Given the description of an element on the screen output the (x, y) to click on. 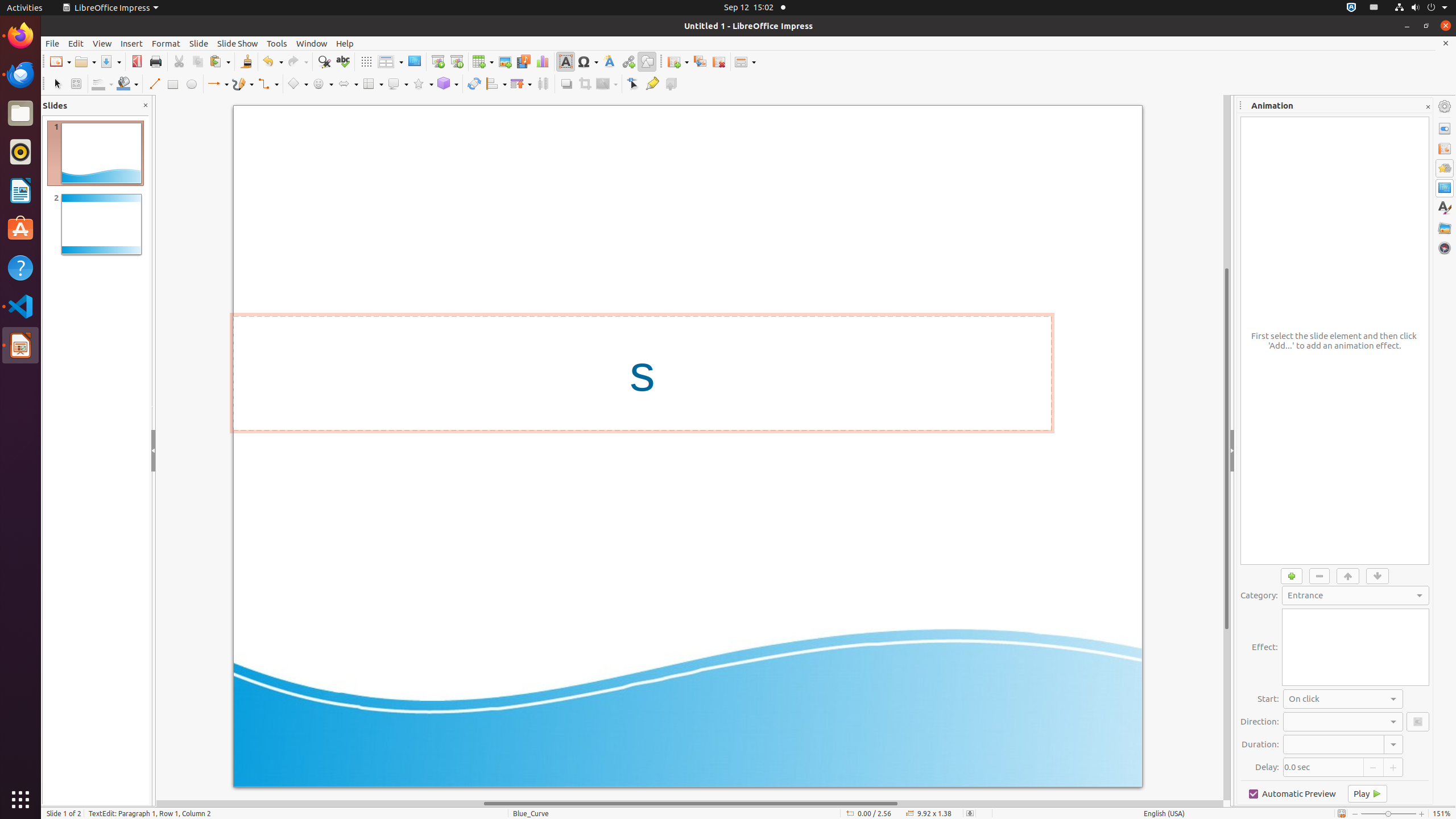
New Element type: push-button (59, 61)
Automatic Preview Element type: check-box (1292, 793)
Thunderbird Mail Element type: push-button (20, 74)
Slide Transition Element type: radio-button (1444, 148)
Fill Color Element type: push-button (126, 83)
